Given the description of an element on the screen output the (x, y) to click on. 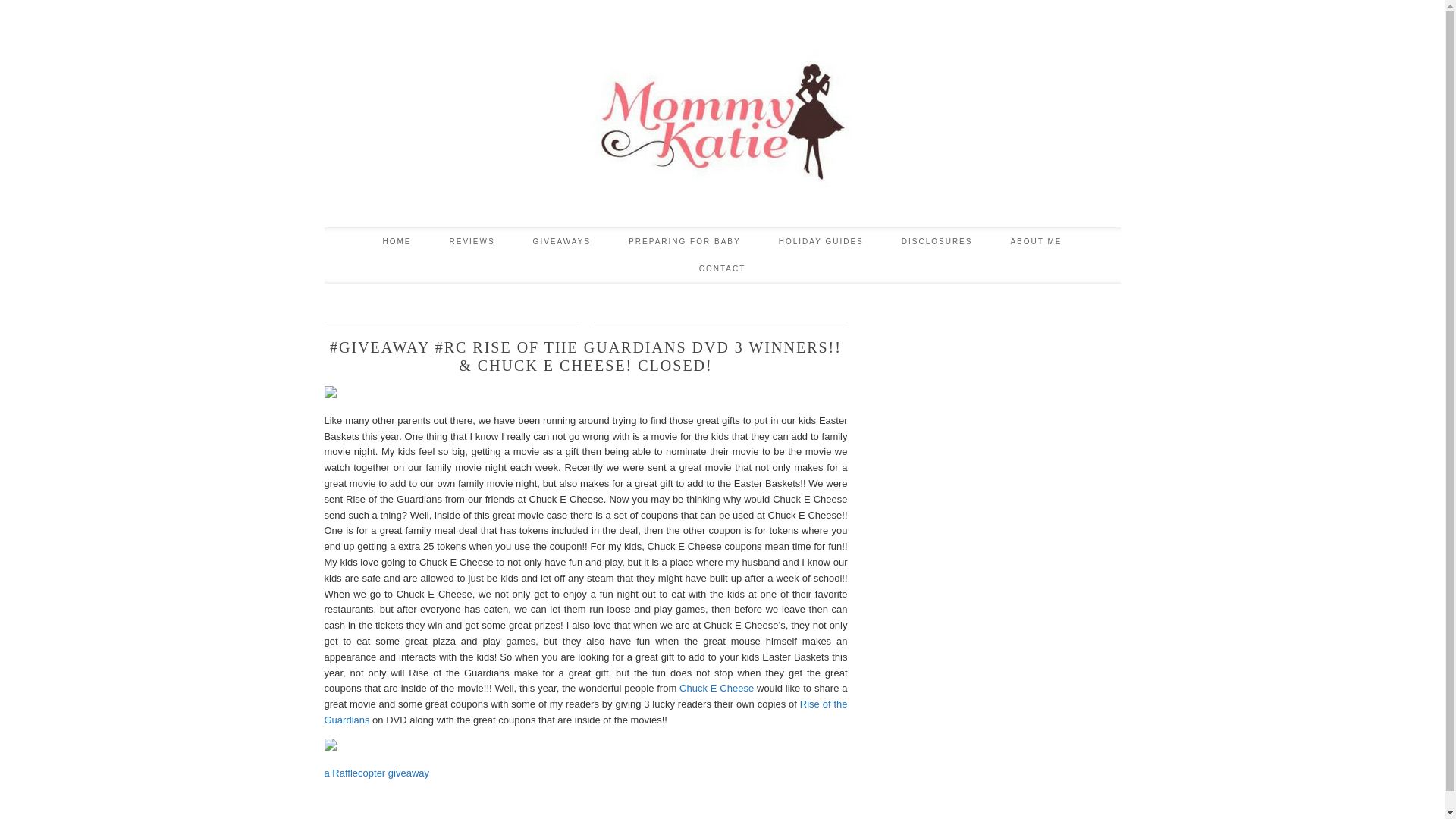
DISCLOSURES (936, 241)
HOLIDAY GUIDES (821, 241)
Rise of the Guardians (585, 711)
a Rafflecopter giveaway (376, 772)
ABOUT ME (1035, 241)
GIVEAWAYS (561, 241)
CONTACT (722, 268)
PREPARING FOR BABY (685, 241)
Chuck E Cheese (716, 687)
HOME (395, 241)
REVIEWS (471, 241)
